Given the description of an element on the screen output the (x, y) to click on. 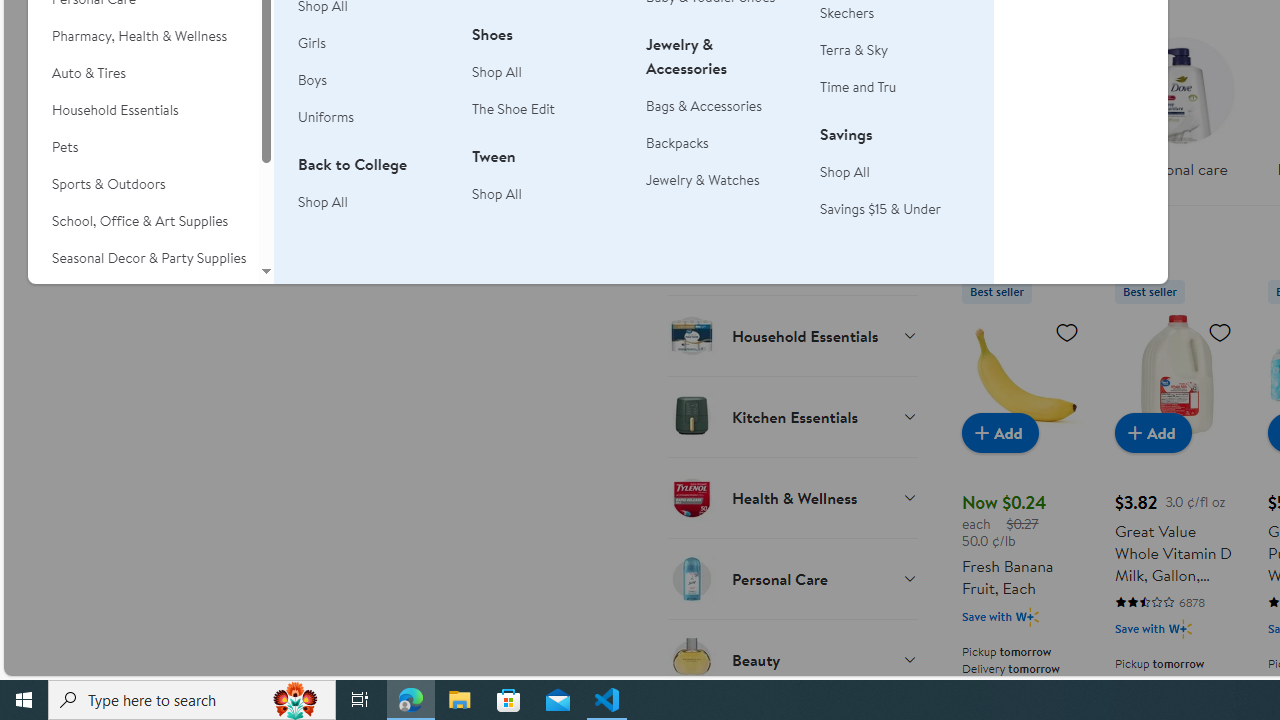
Alcohol (792, 173)
Household essentials (1024, 114)
Back to CollegeShop All (373, 193)
Bags & Accessories (703, 105)
Grab & Go (792, 254)
Uniforms (326, 116)
School, Office & Art Supplies (143, 221)
Kitchen Essentials (792, 416)
Boys (312, 79)
Personal Care (792, 578)
Movies, Music & Books (143, 295)
Backpacks (721, 143)
